Given the description of an element on the screen output the (x, y) to click on. 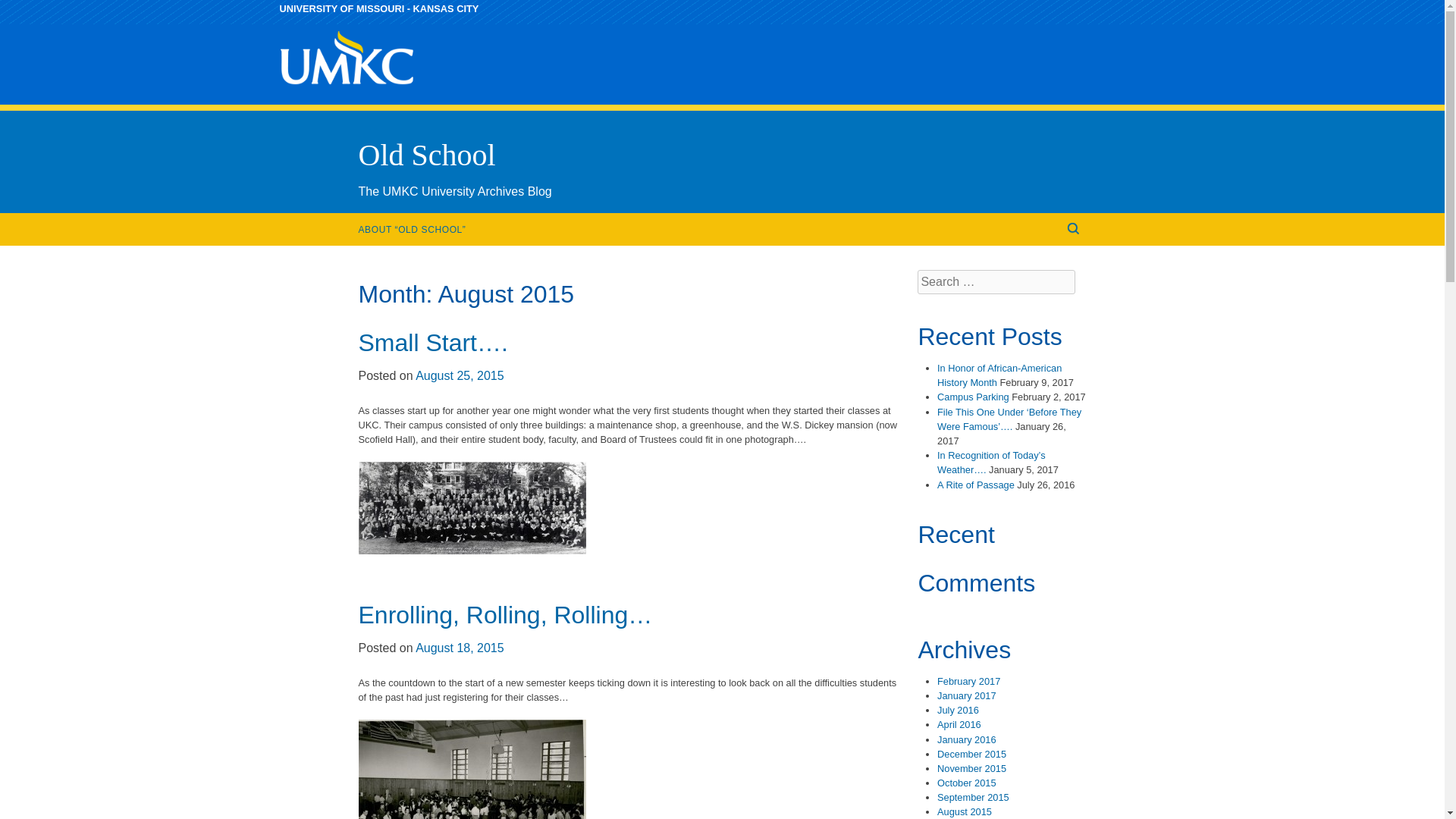
August 25, 2015 (458, 375)
January 2017 (966, 695)
University of Missouri-Kansas City Homepage (345, 94)
January 2016 (966, 739)
February 2017 (968, 681)
August 18, 2015 (458, 647)
In Honor of African-American History Month (999, 375)
Search (24, 9)
UMKC Logo (345, 57)
UNIVERSITY OF MISSOURI - KANSAS CITY (379, 8)
A Rite of Passage (975, 484)
University of Missouri - Kansas City Homepage (379, 8)
April 2016 (959, 724)
Campus Parking (973, 396)
July 2016 (957, 709)
